Given the description of an element on the screen output the (x, y) to click on. 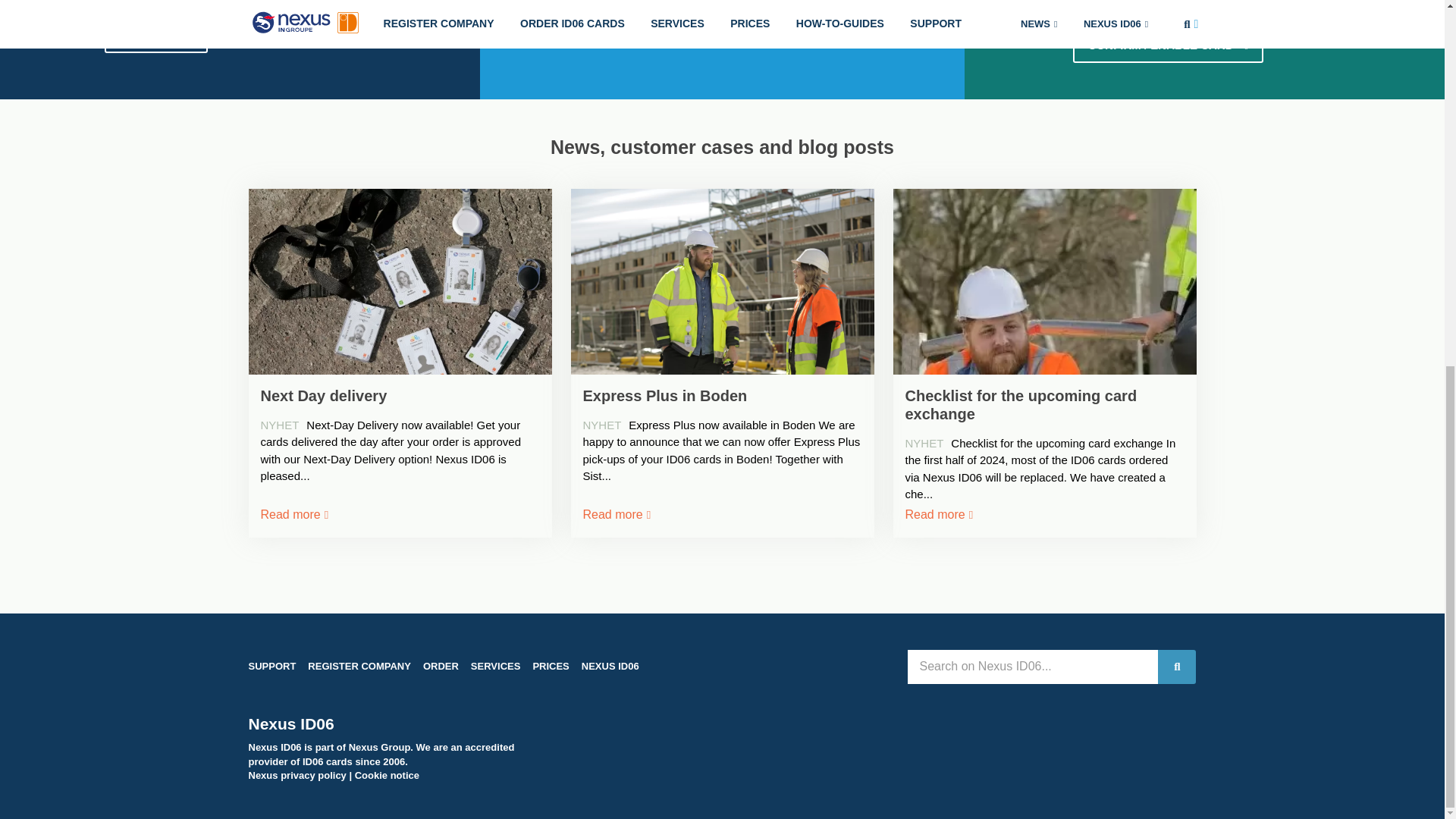
Read more (614, 513)
REGISTER (156, 35)
Read more (292, 513)
ORDER ID06 CARDS (666, 19)
